Given the description of an element on the screen output the (x, y) to click on. 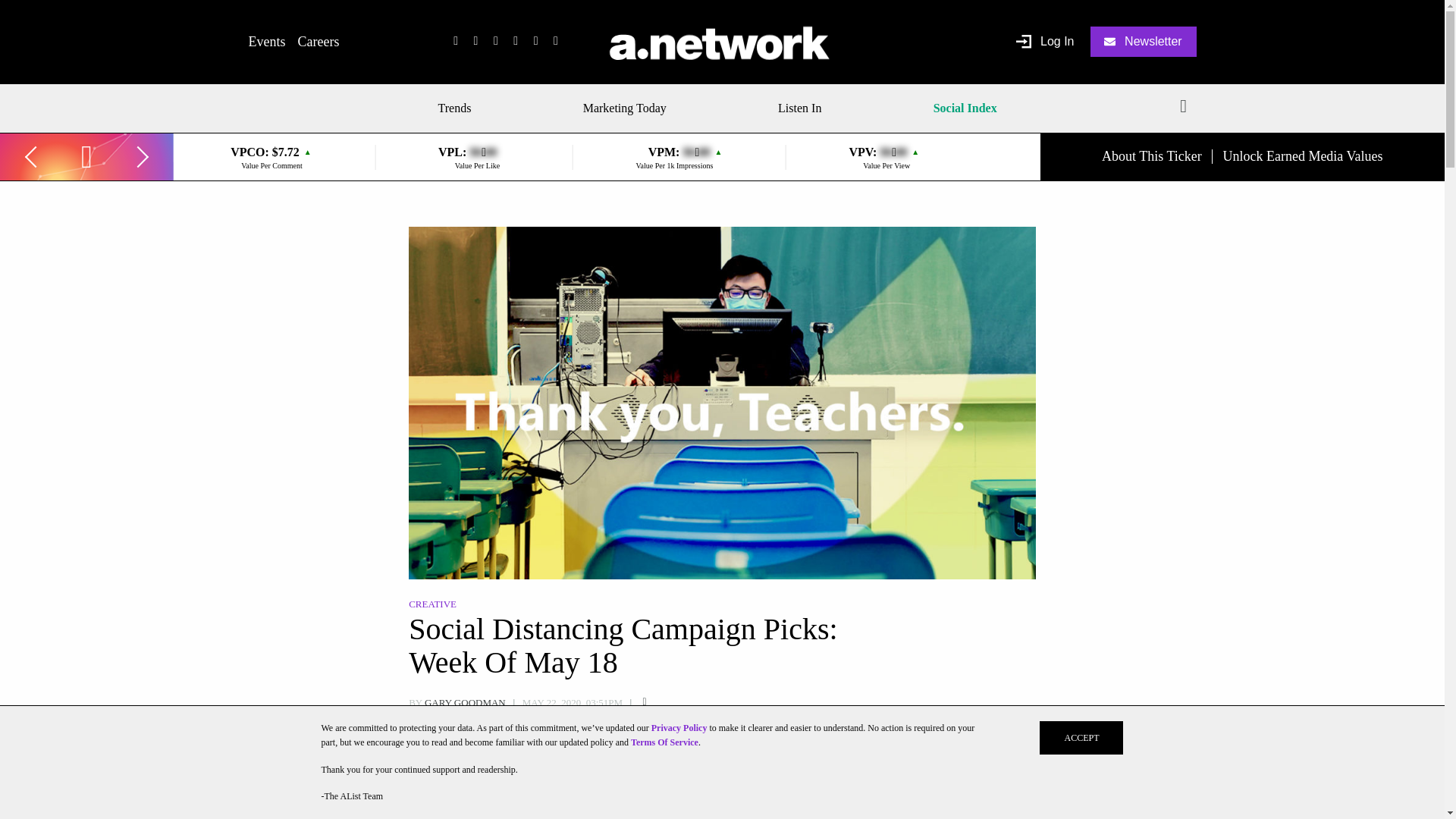
Events (266, 41)
Trends (459, 108)
Careers (318, 41)
Social Index (965, 108)
Newsletter (1143, 41)
Listen In (799, 108)
Log In (1045, 42)
Marketing Today (625, 108)
